Given the description of an element on the screen output the (x, y) to click on. 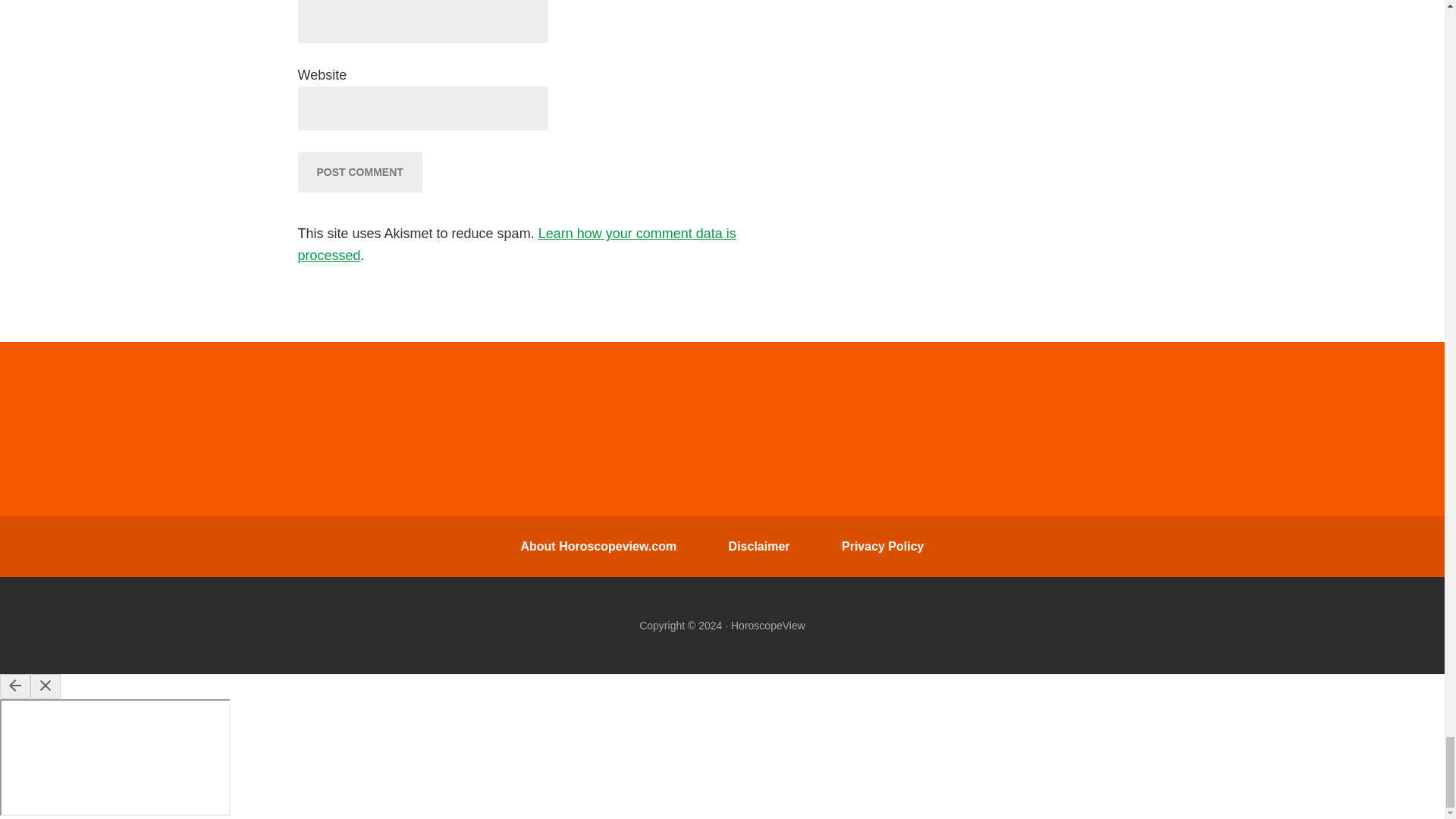
Post Comment (359, 171)
Post Comment (359, 171)
